Given the description of an element on the screen output the (x, y) to click on. 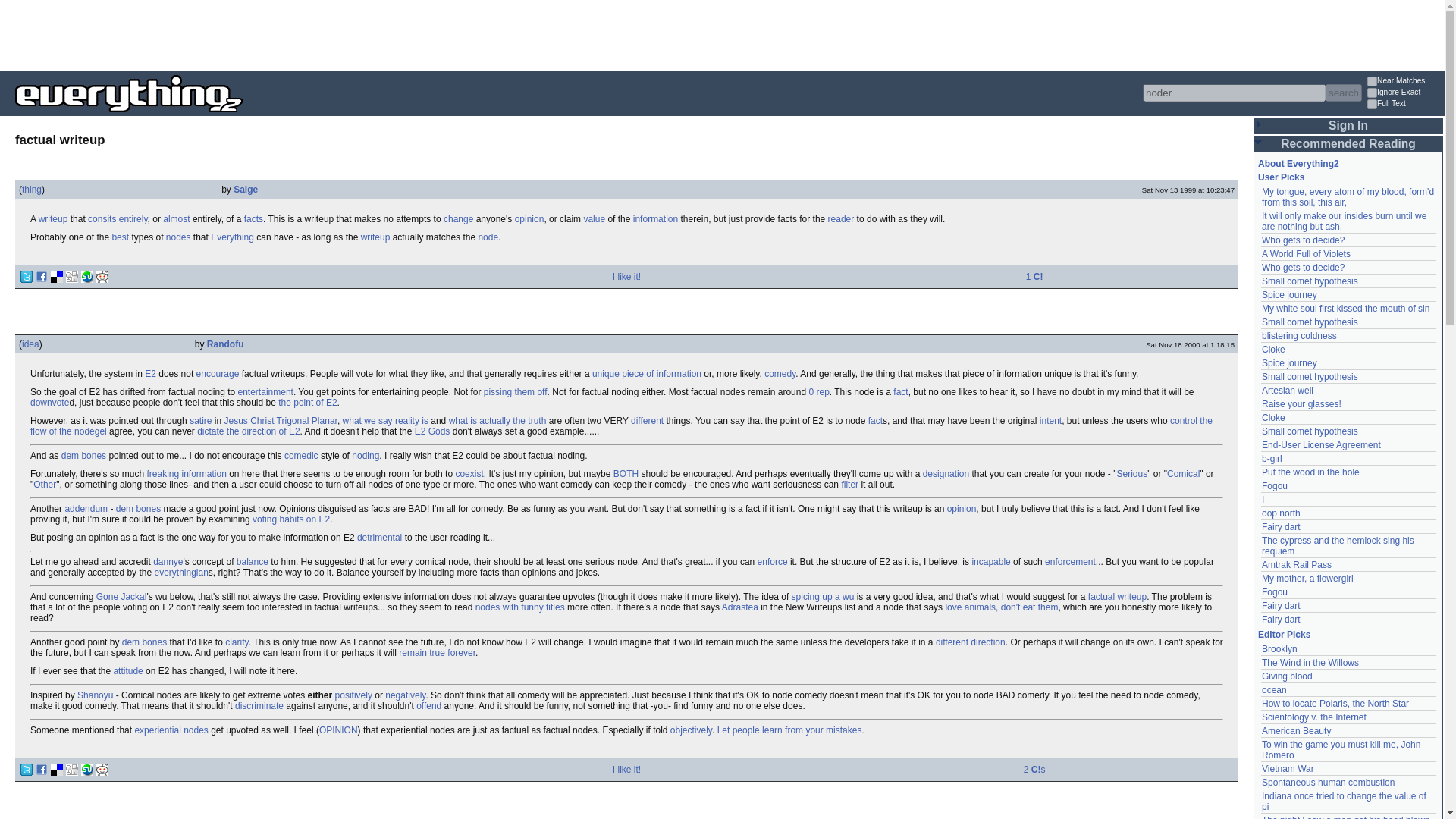
fact (900, 391)
Everything (232, 236)
I like it! (626, 276)
reader (841, 218)
Search for text within writeups (1404, 104)
facts (253, 218)
writeup (53, 218)
E2 (149, 373)
entertainment (266, 391)
writeup (53, 218)
